Given the description of an element on the screen output the (x, y) to click on. 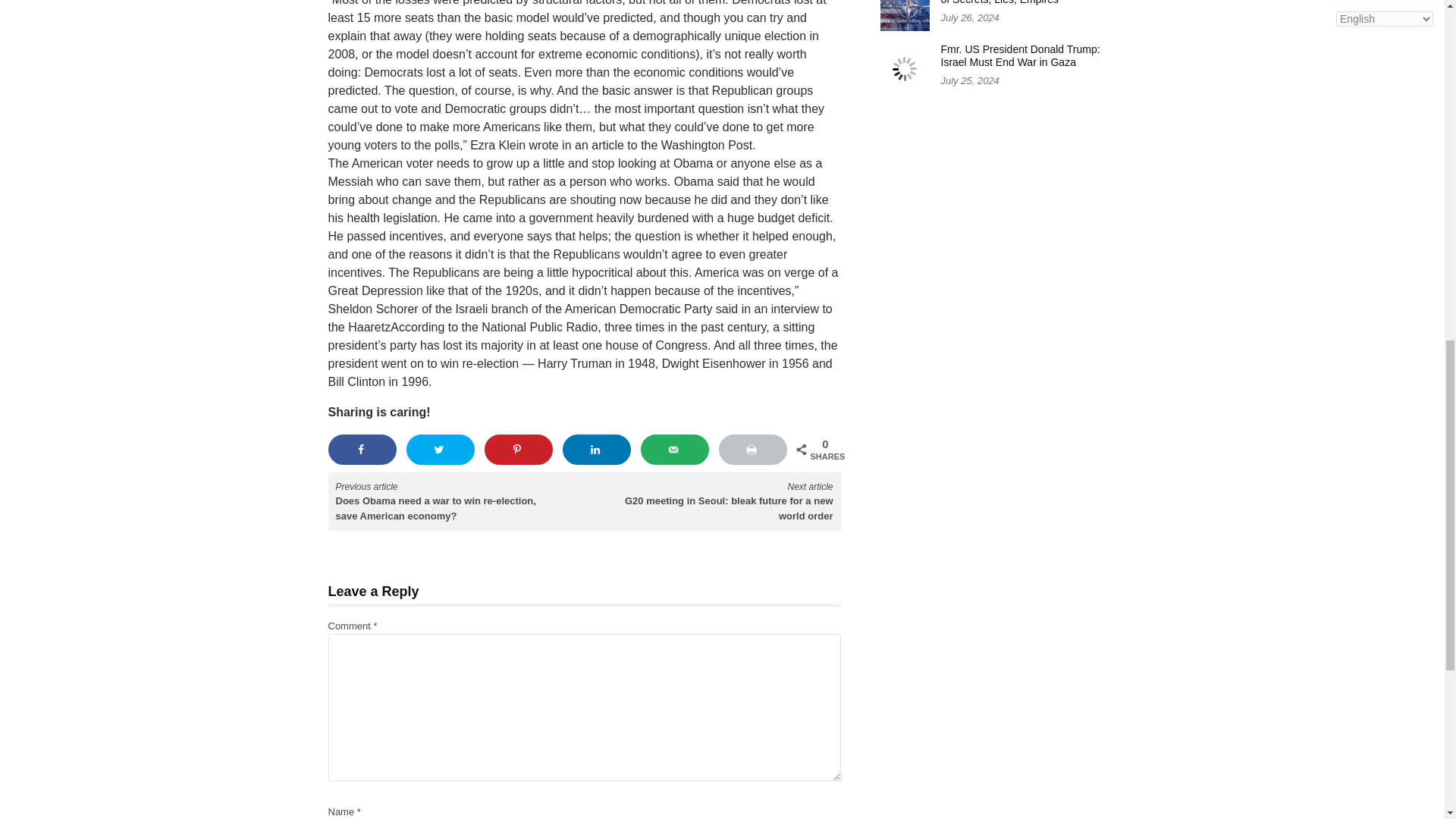
Print this webpage (753, 449)
Save to Pinterest (518, 449)
Share on Facebook (361, 449)
Share on Twitter (441, 449)
Share on LinkedIn (596, 449)
Send over email (674, 449)
